Given the description of an element on the screen output the (x, y) to click on. 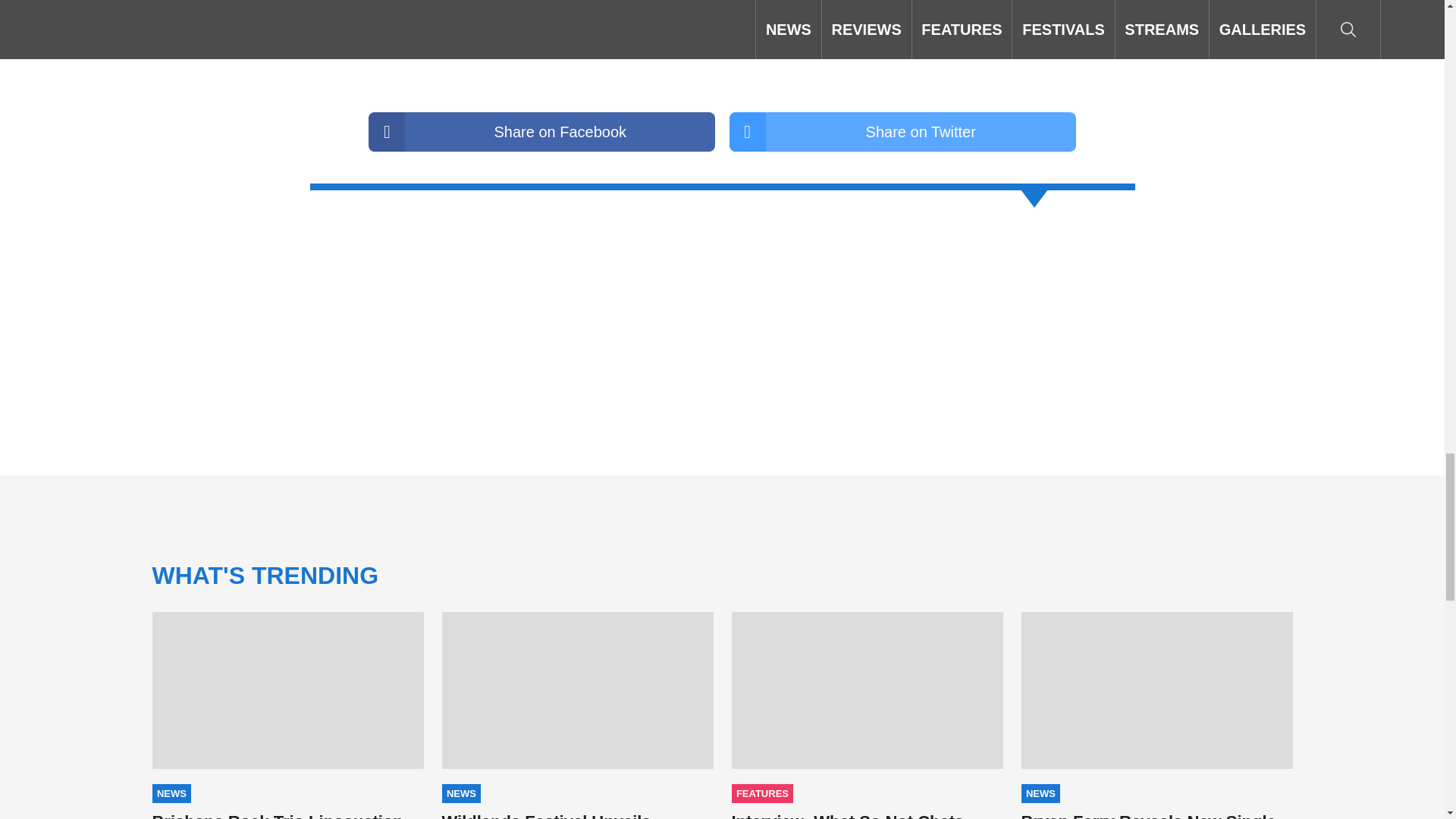
Share on Twitter (902, 131)
FEATURES (761, 793)
NEWS (460, 793)
Share on Facebook (541, 131)
NEWS (170, 793)
